Given the description of an element on the screen output the (x, y) to click on. 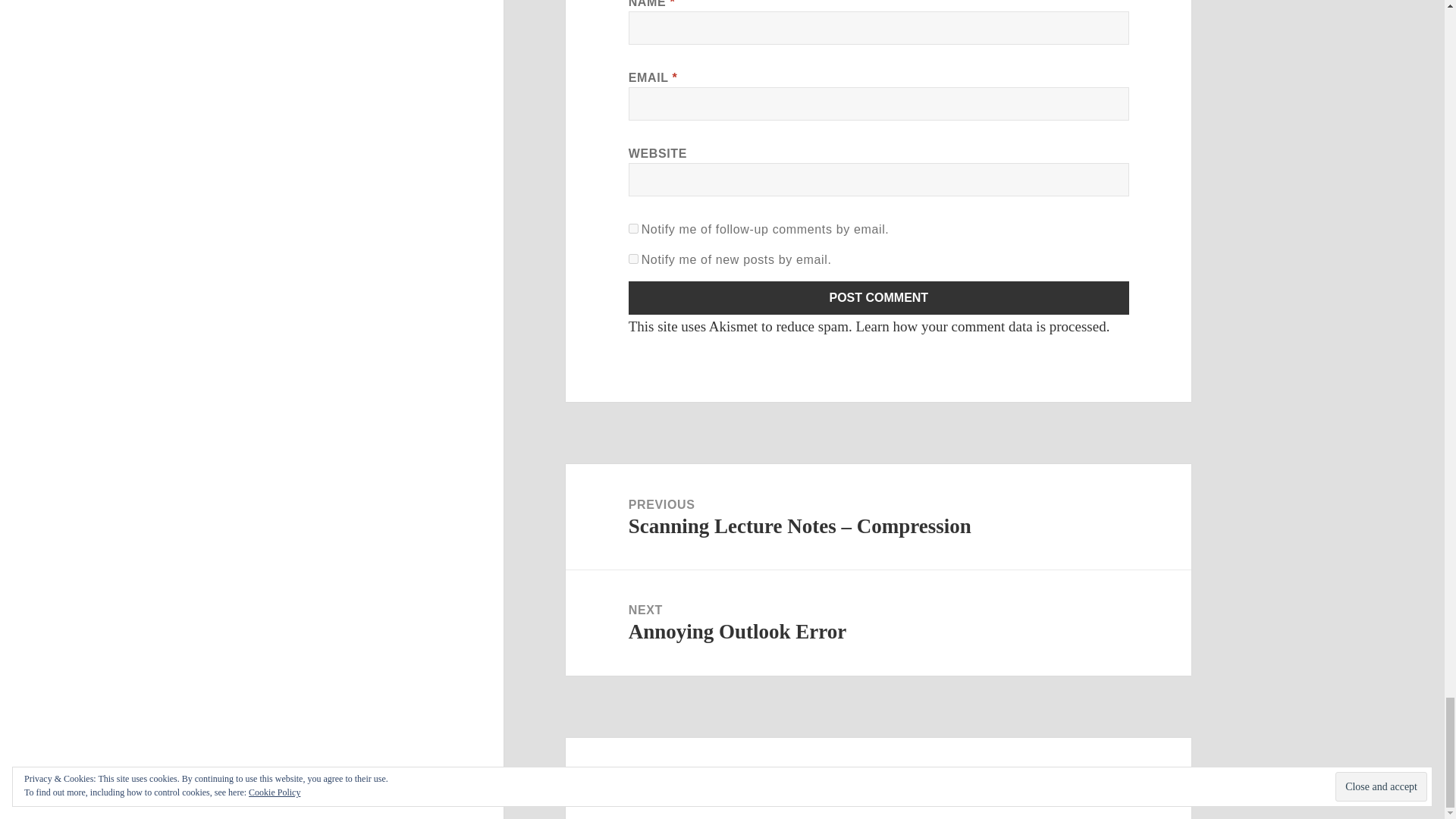
subscribe (633, 258)
Post Comment (878, 297)
subscribe (633, 228)
